Given the description of an element on the screen output the (x, y) to click on. 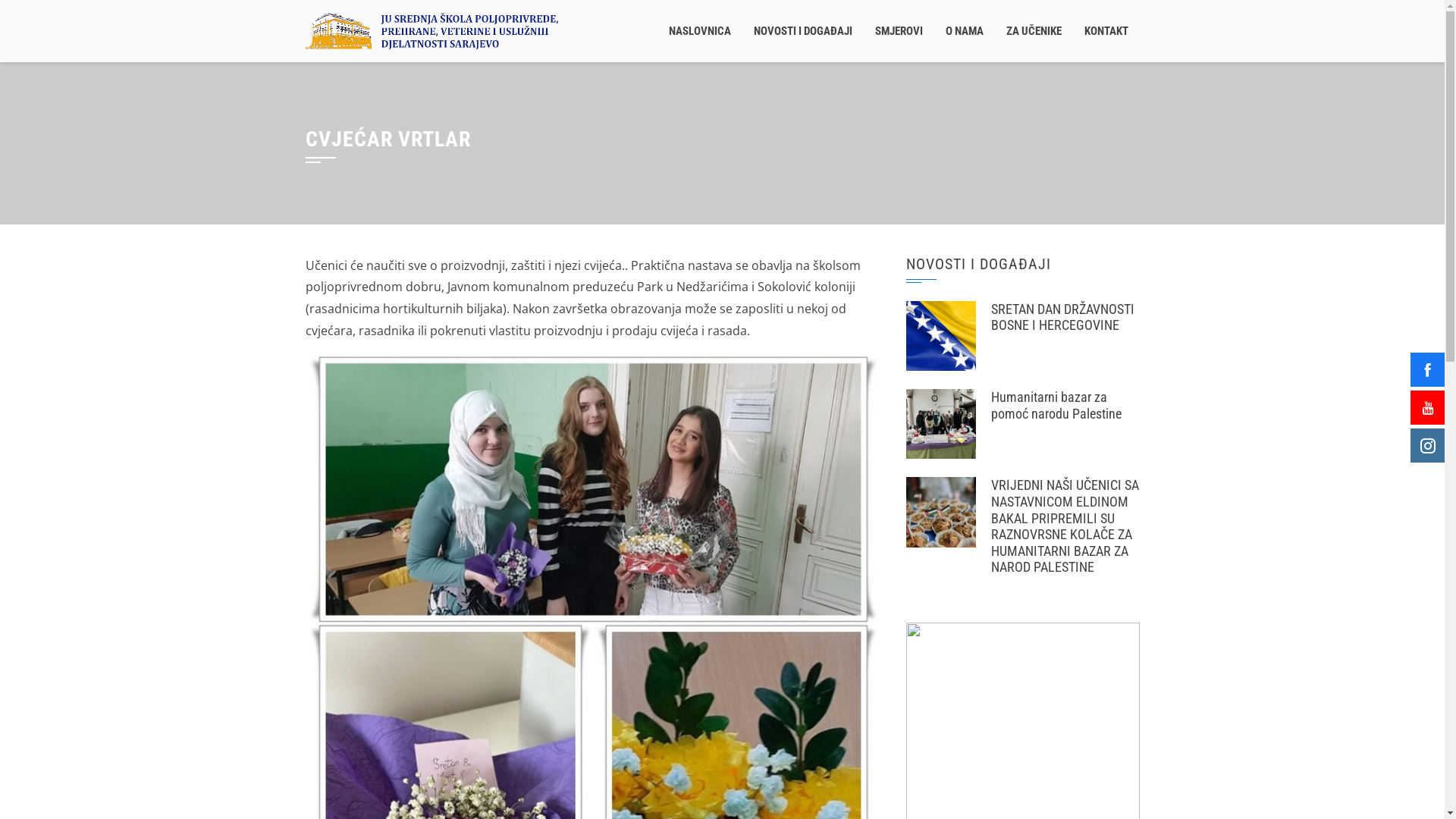
O NAMA Element type: text (964, 31)
SMJEROVI Element type: text (897, 31)
NASLOVNICA Element type: text (698, 31)
KONTAKT Element type: text (1105, 31)
